Given the description of an element on the screen output the (x, y) to click on. 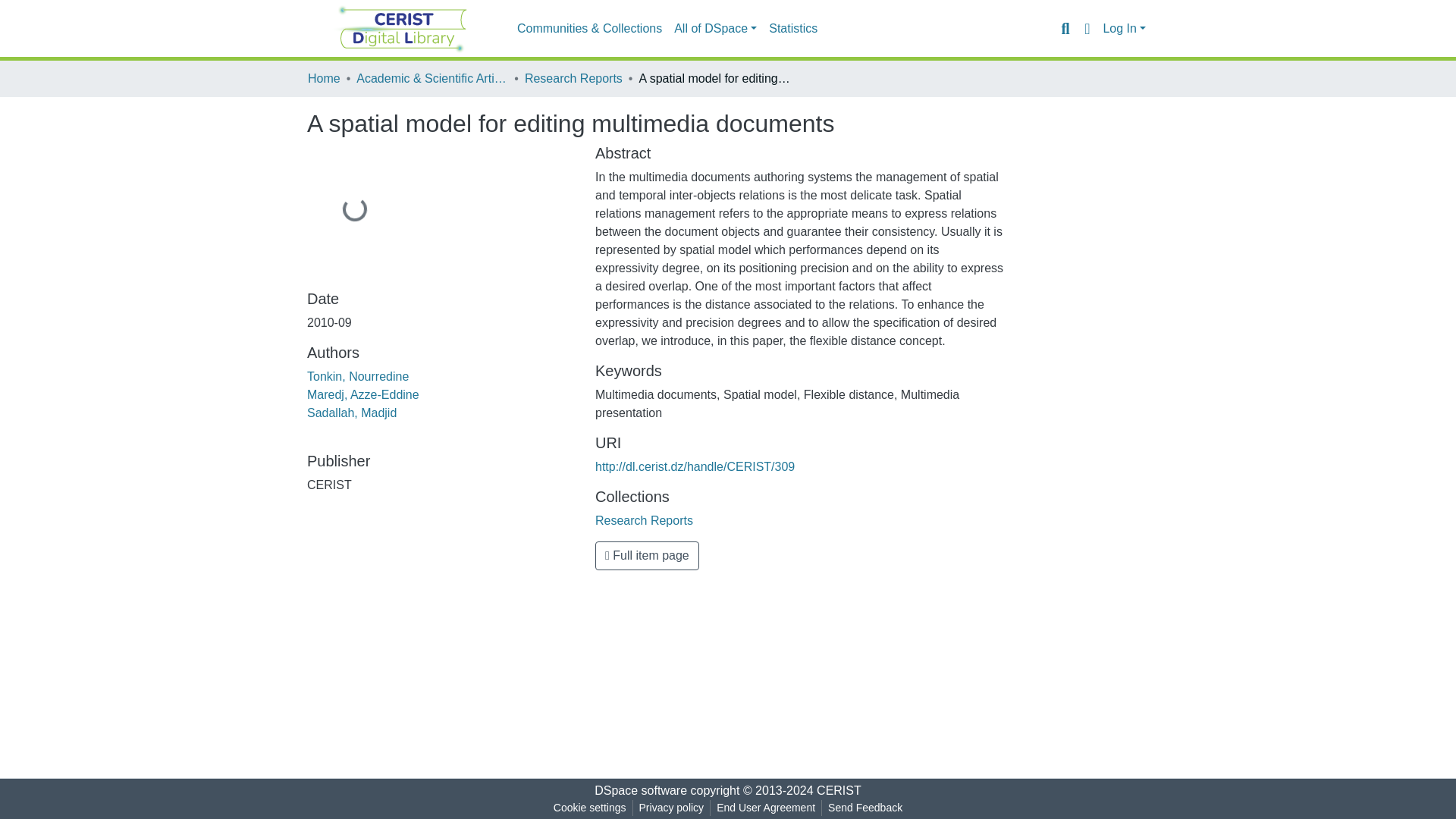
DSpace software (640, 789)
Research Reports (644, 520)
Language switch (1086, 28)
End User Agreement (765, 807)
All of DSpace (715, 28)
Full item page (646, 555)
Research Reports (573, 78)
Tonkin, Nourredine (358, 376)
Log In (1123, 28)
Privacy policy (671, 807)
